Given the description of an element on the screen output the (x, y) to click on. 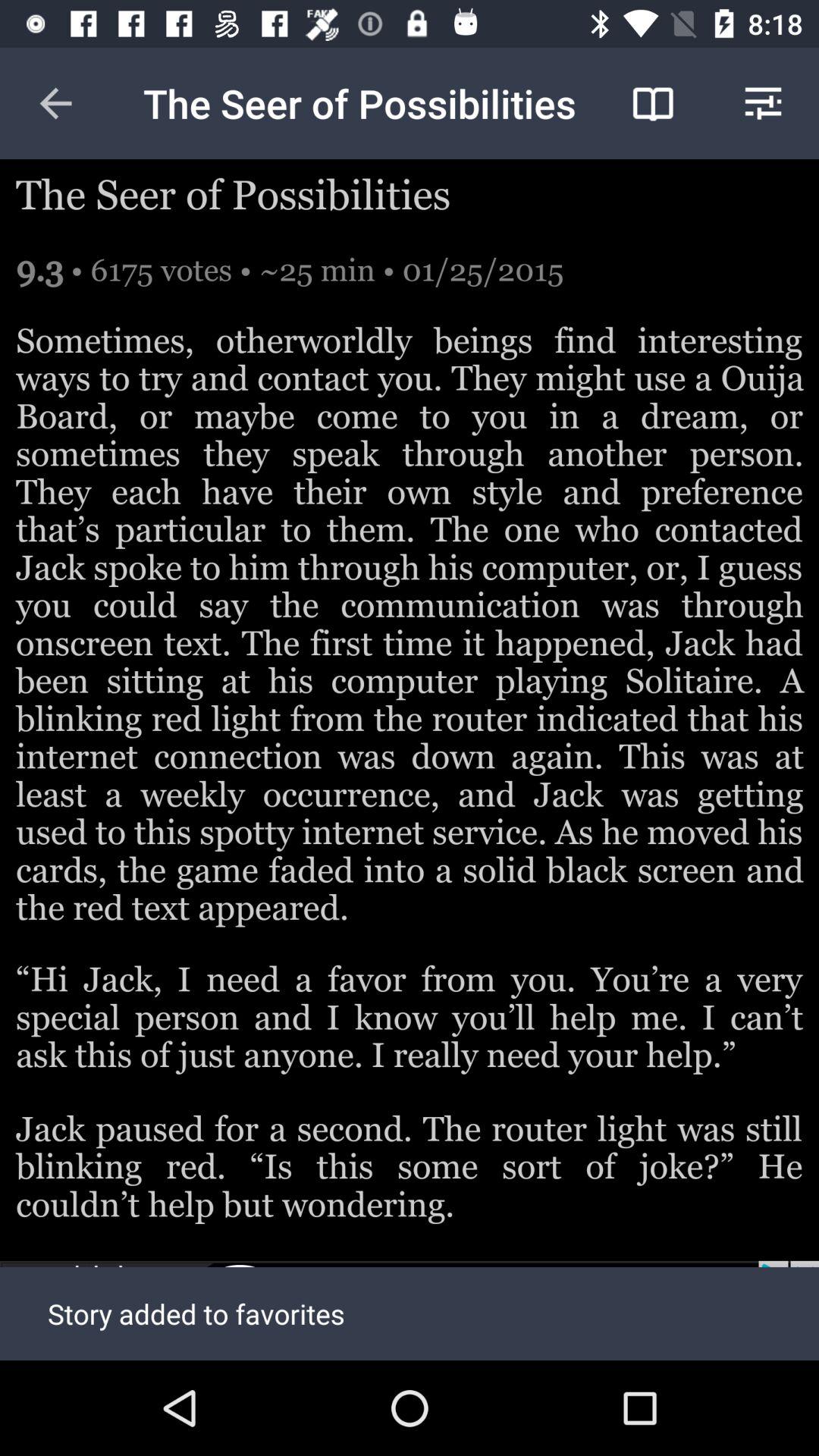
google story page (409, 1310)
